Given the description of an element on the screen output the (x, y) to click on. 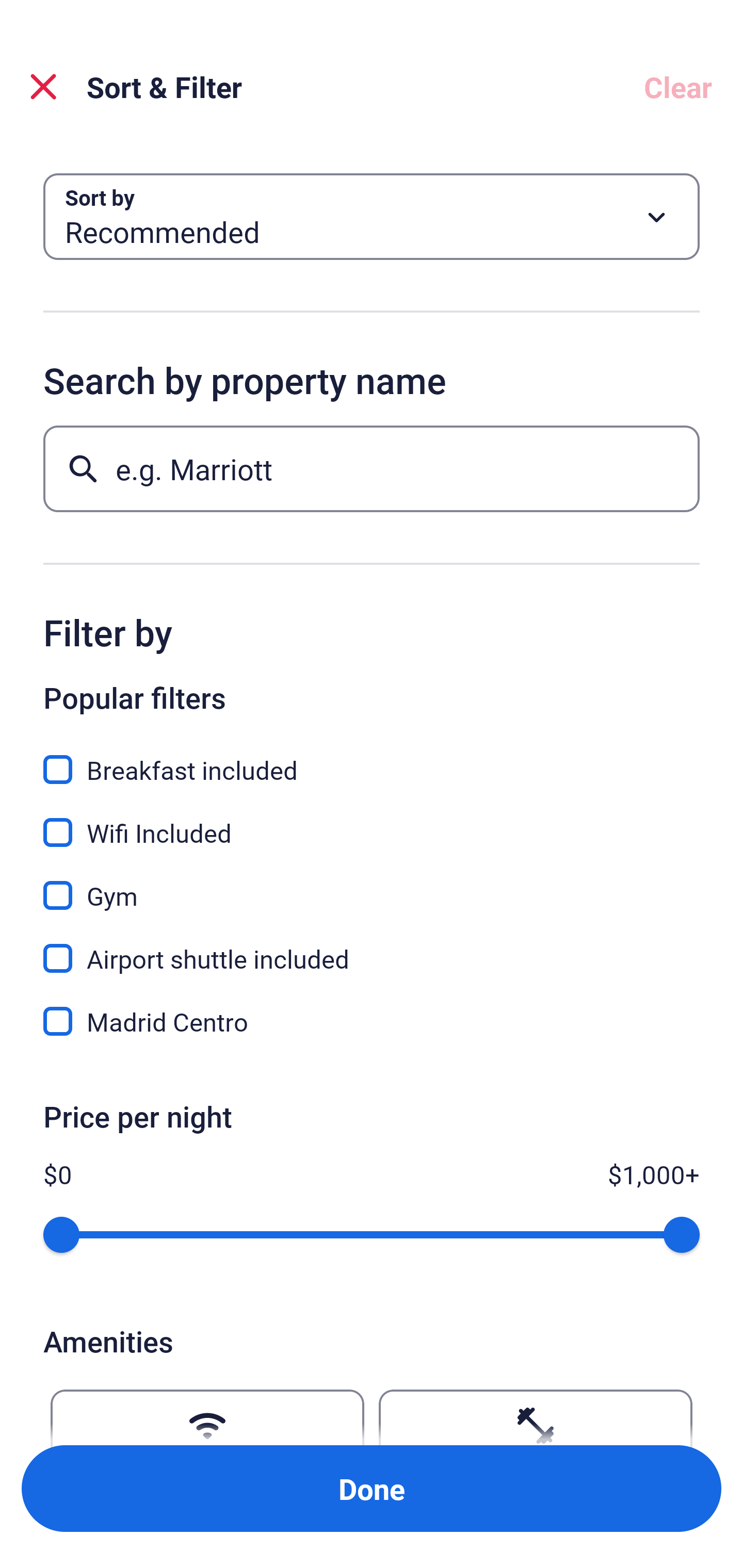
Close Sort and Filter (43, 86)
Clear (677, 86)
Sort by Button Recommended (371, 217)
e.g. Marriott Button (371, 468)
Breakfast included, Breakfast included (371, 757)
Wifi Included, Wifi Included (371, 821)
Gym, Gym (371, 883)
Airport shuttle included, Airport shuttle included (371, 946)
Madrid Centro, Madrid Centro (371, 1021)
Apply and close Sort and Filter Done (371, 1488)
